Given the description of an element on the screen output the (x, y) to click on. 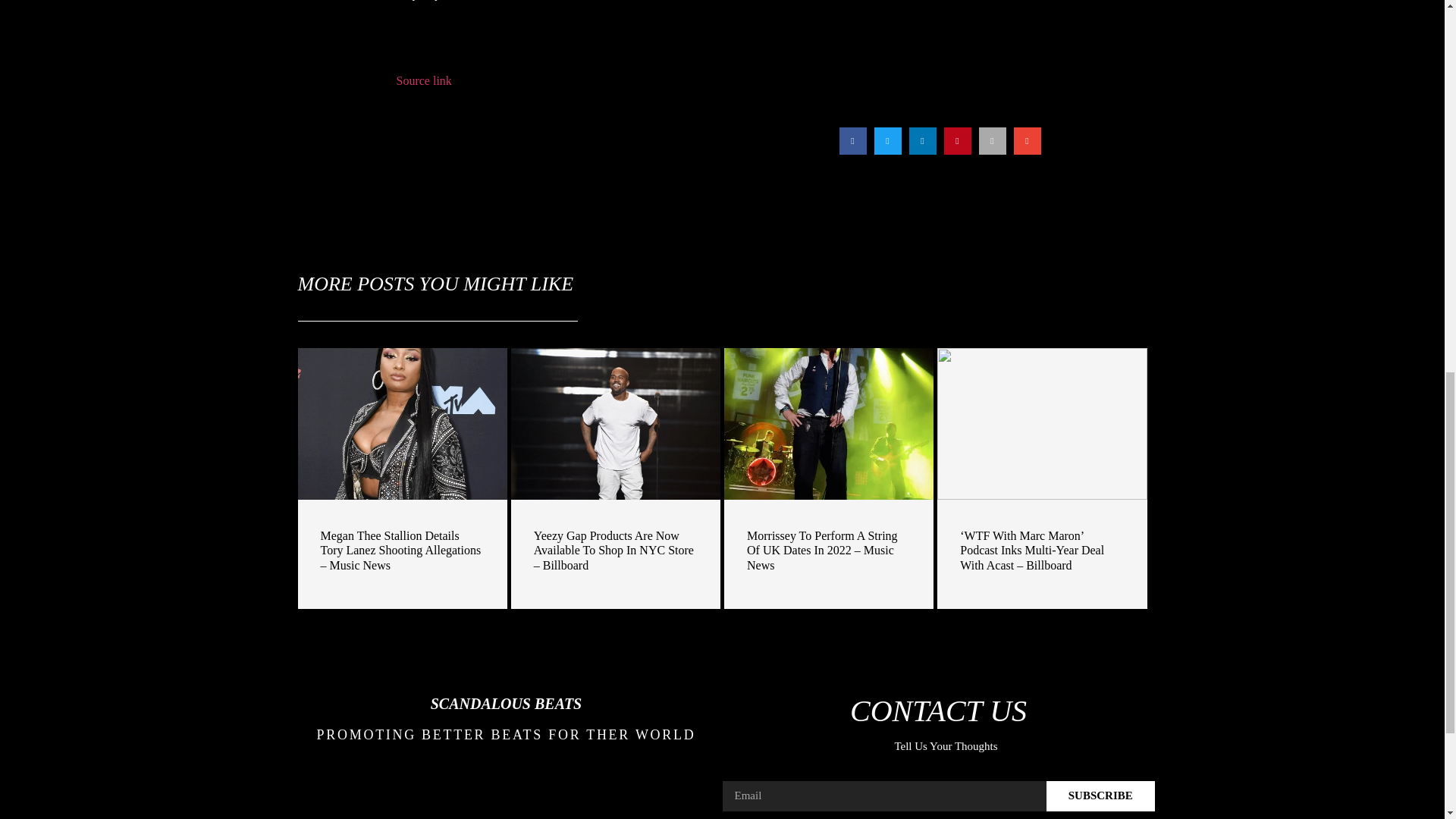
Source link (423, 80)
SUBSCRIBE (1100, 796)
SCANDALOUS BEATS (506, 703)
